Given the description of an element on the screen output the (x, y) to click on. 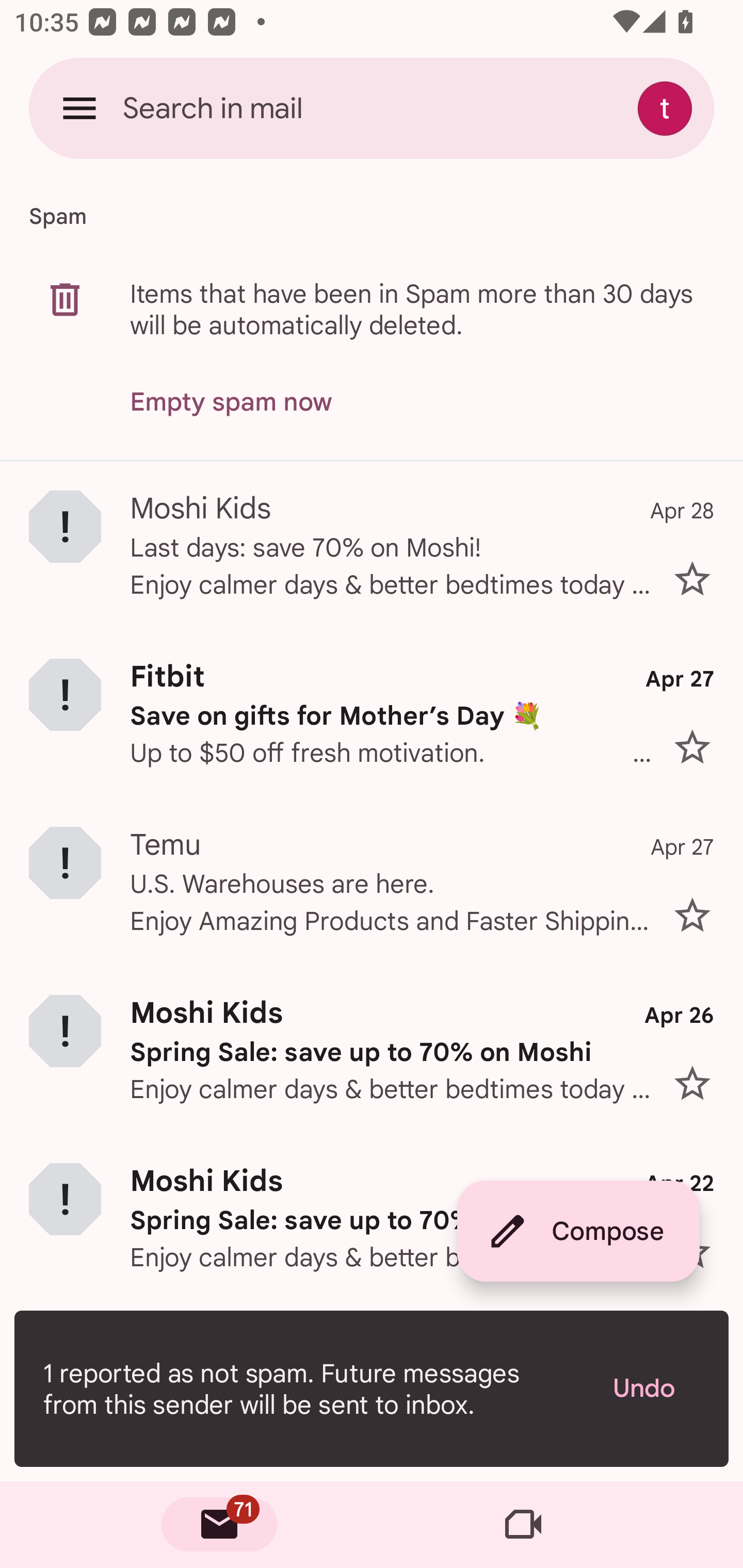
Open navigation drawer (79, 108)
Empty spam now (230, 402)
Compose (577, 1230)
Undo (655, 1388)
Meet (523, 1524)
